Given the description of an element on the screen output the (x, y) to click on. 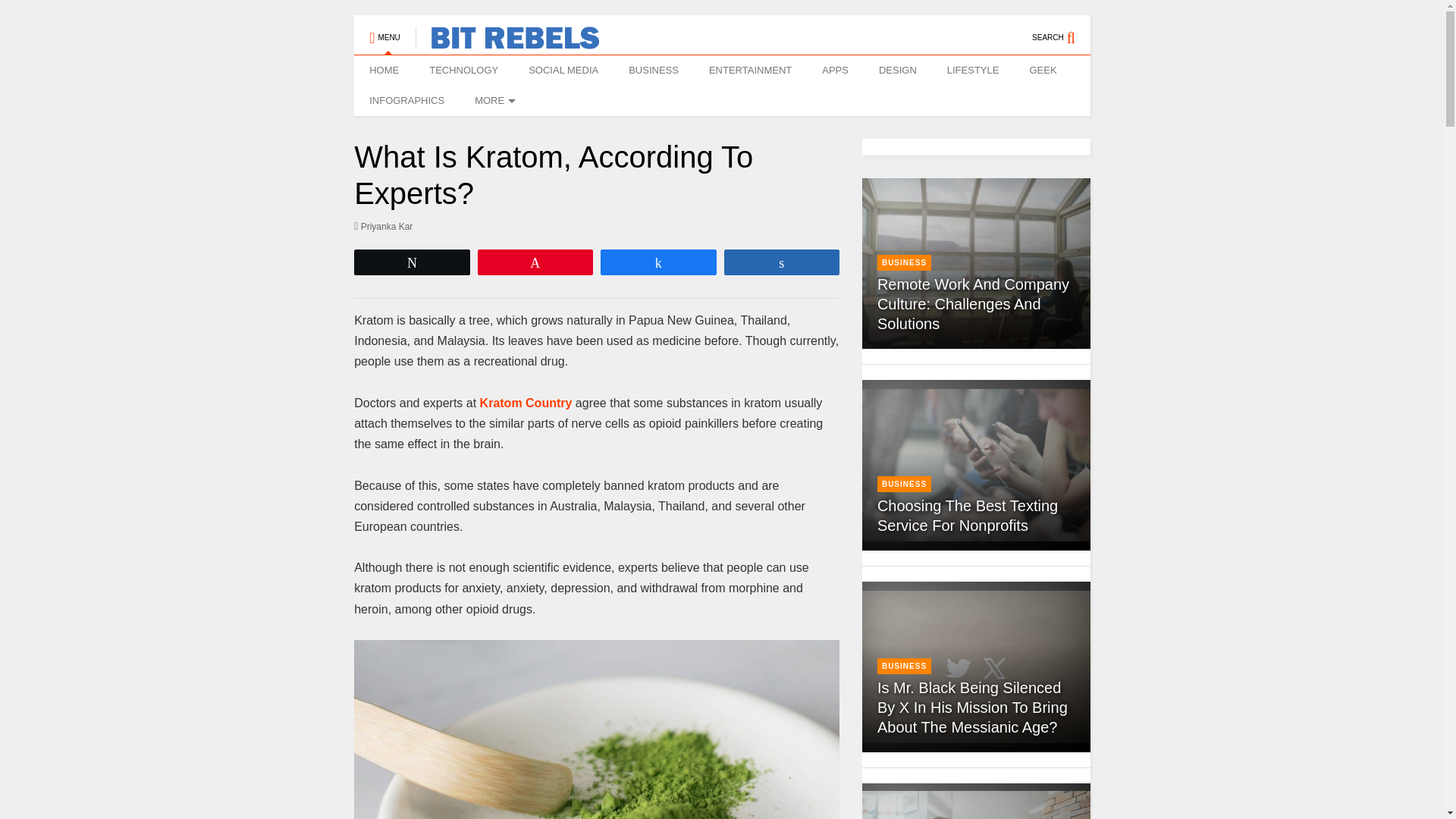
Bit Rebels (506, 42)
Choosing The Best Texting Service For Nonprofits (967, 515)
LIFESTYLE (972, 70)
Choosing The Best Texting Service For Nonprofits (975, 465)
DESIGN (897, 70)
Remote Work And Company Culture: Challenges And Solutions (976, 263)
MORE (493, 100)
Remote Work And Company Culture: Challenges And Solutions (972, 304)
BUSINESS (653, 70)
ENTERTAINMENT (750, 70)
GEEK (1042, 70)
TECHNOLOGY (463, 70)
Priyanka Kar (382, 226)
